Given the description of an element on the screen output the (x, y) to click on. 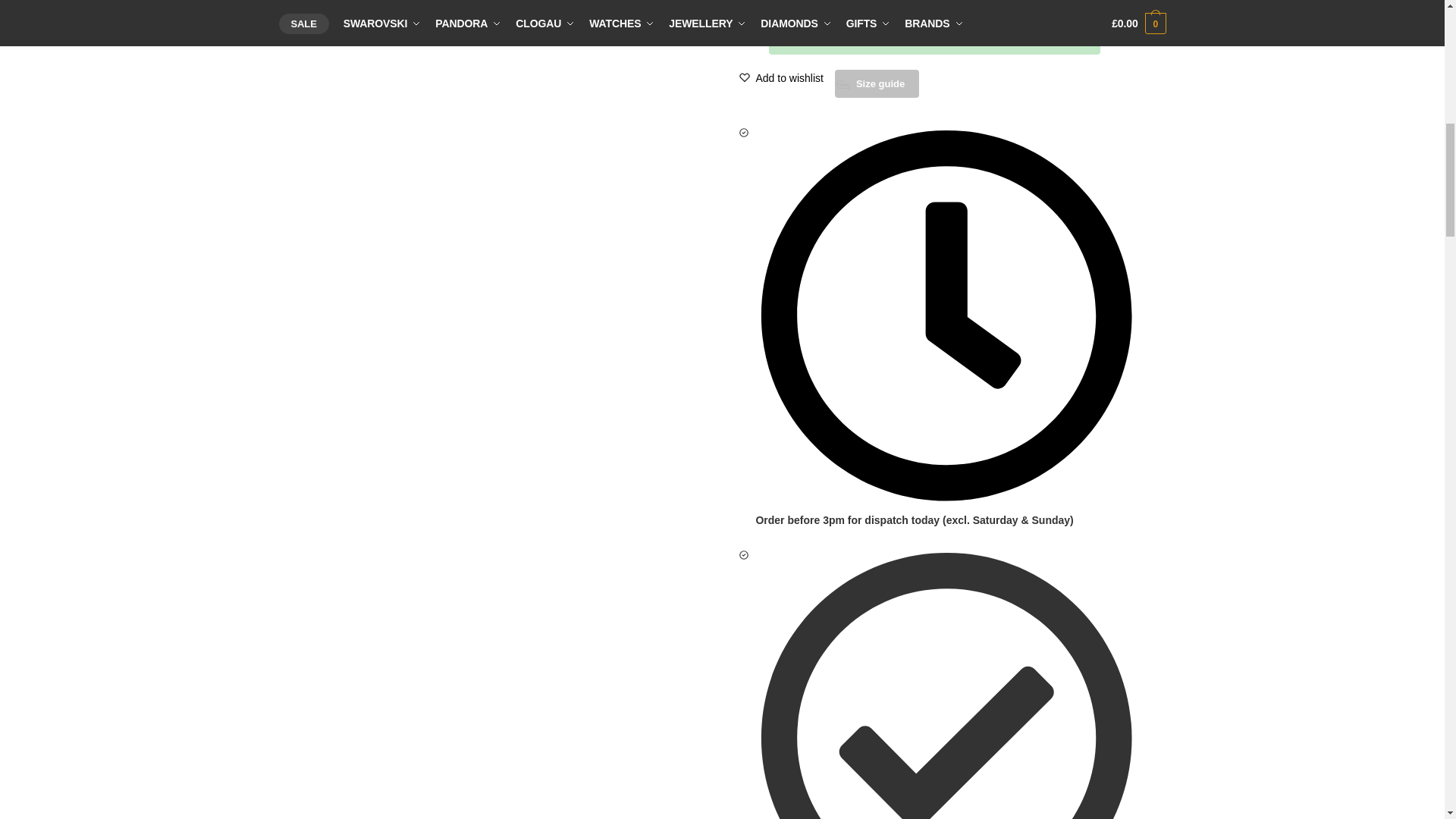
Size guide (876, 83)
1 (757, 7)
Wishlist (788, 78)
